Given the description of an element on the screen output the (x, y) to click on. 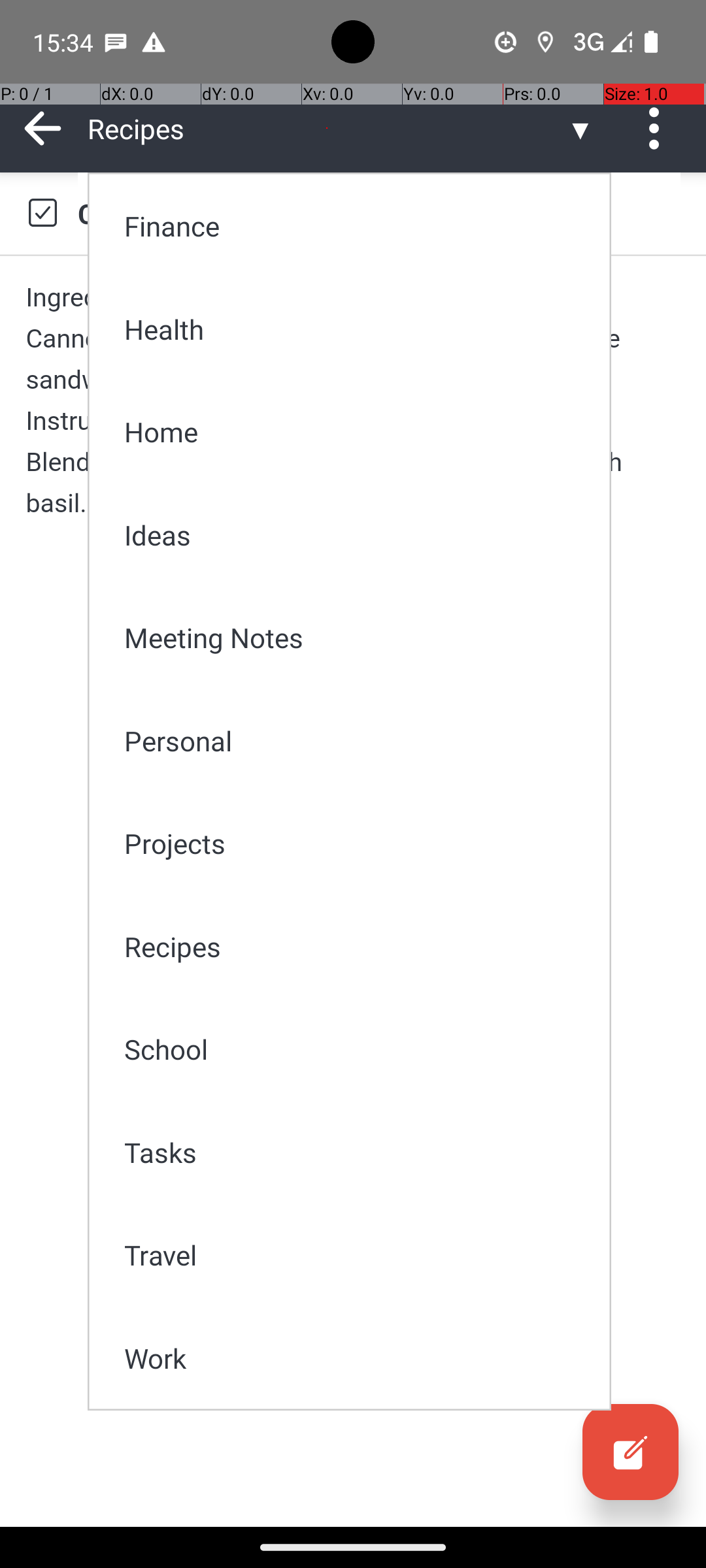
Finance Element type: android.widget.TextView (358, 225)
Health Element type: android.widget.TextView (358, 328)
Ideas Element type: android.widget.TextView (358, 534)
Meeting Notes Element type: android.widget.TextView (358, 636)
Personal Element type: android.widget.TextView (358, 740)
Projects Element type: android.widget.TextView (358, 842)
Recipes Element type: android.widget.TextView (358, 945)
School Element type: android.widget.TextView (358, 1048)
Tasks Element type: android.widget.TextView (358, 1151)
Travel Element type: android.widget.TextView (358, 1254)
Work Element type: android.widget.TextView (358, 1357)
